Given the description of an element on the screen output the (x, y) to click on. 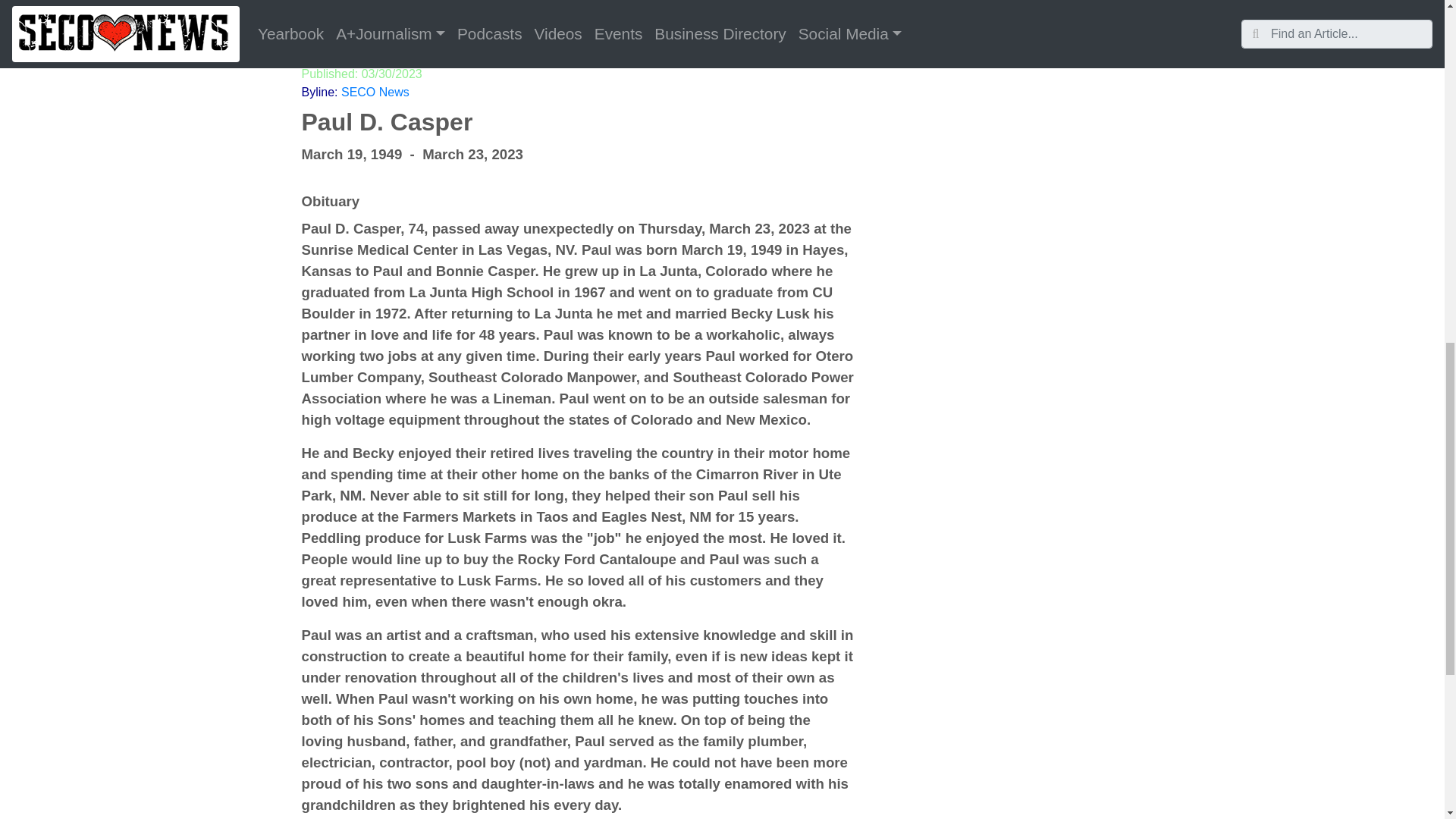
SECO News (374, 91)
